Given the description of an element on the screen output the (x, y) to click on. 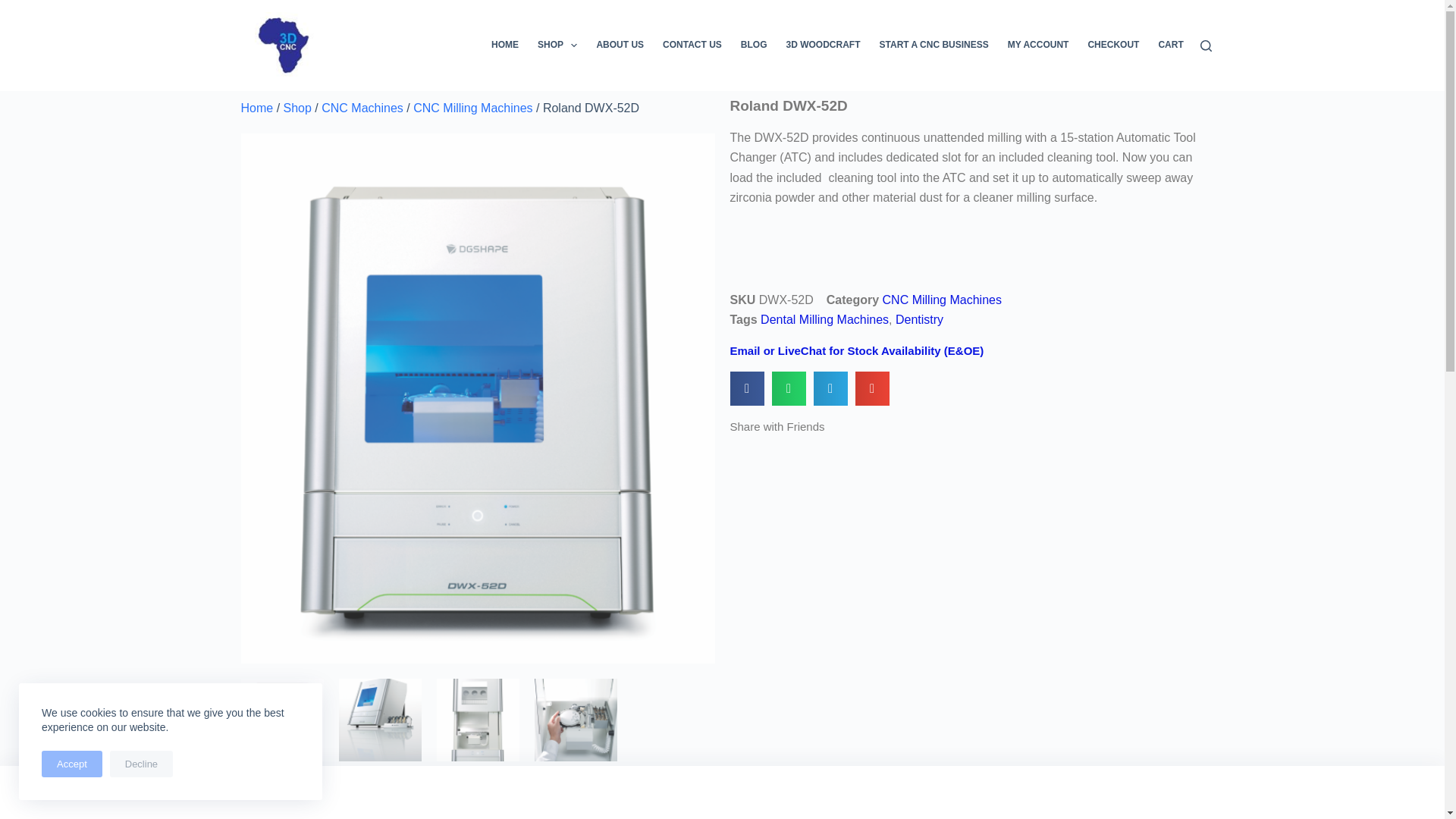
Skip to content (15, 7)
